Given the description of an element on the screen output the (x, y) to click on. 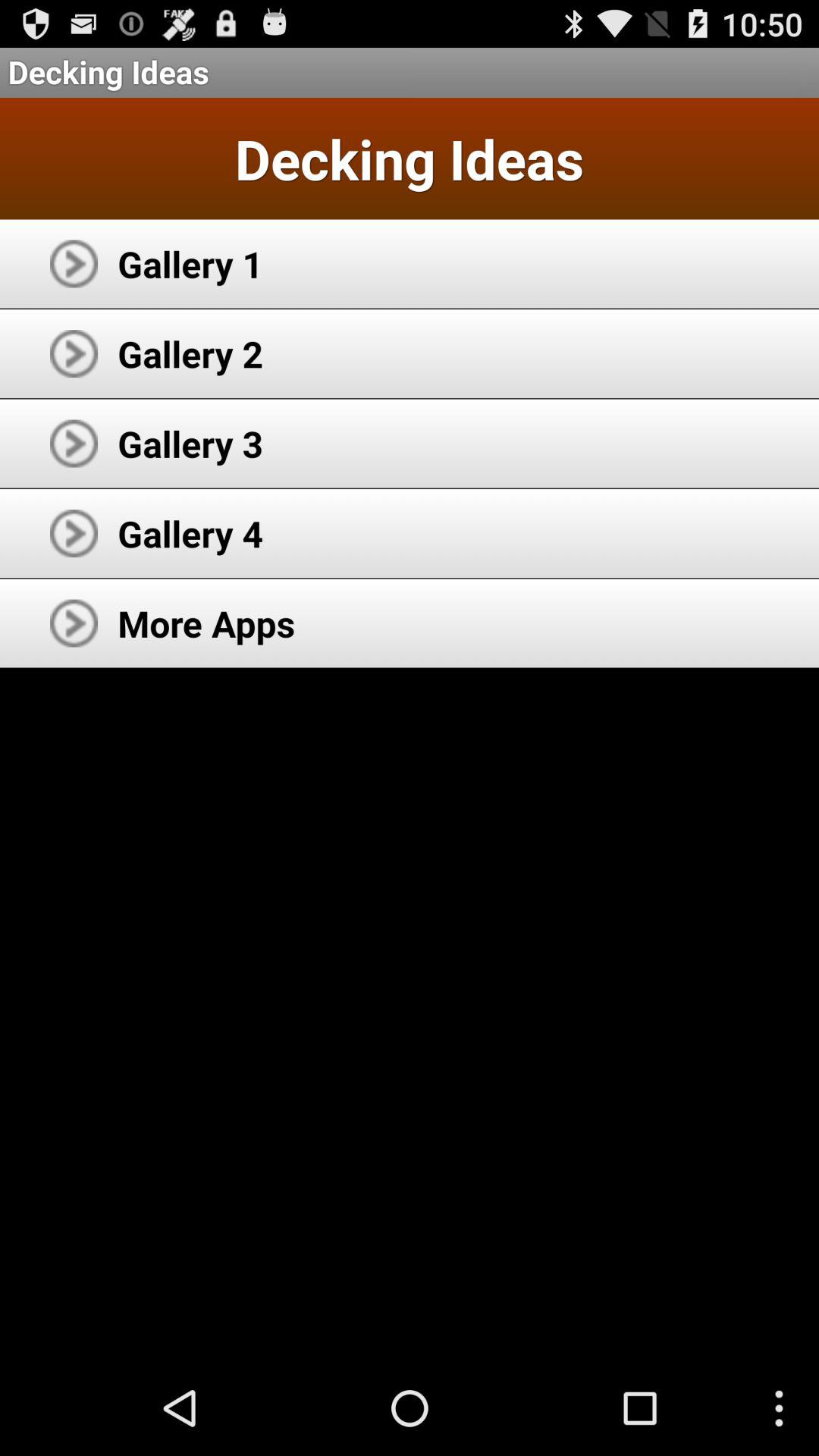
click the gallery 1 app (190, 263)
